Given the description of an element on the screen output the (x, y) to click on. 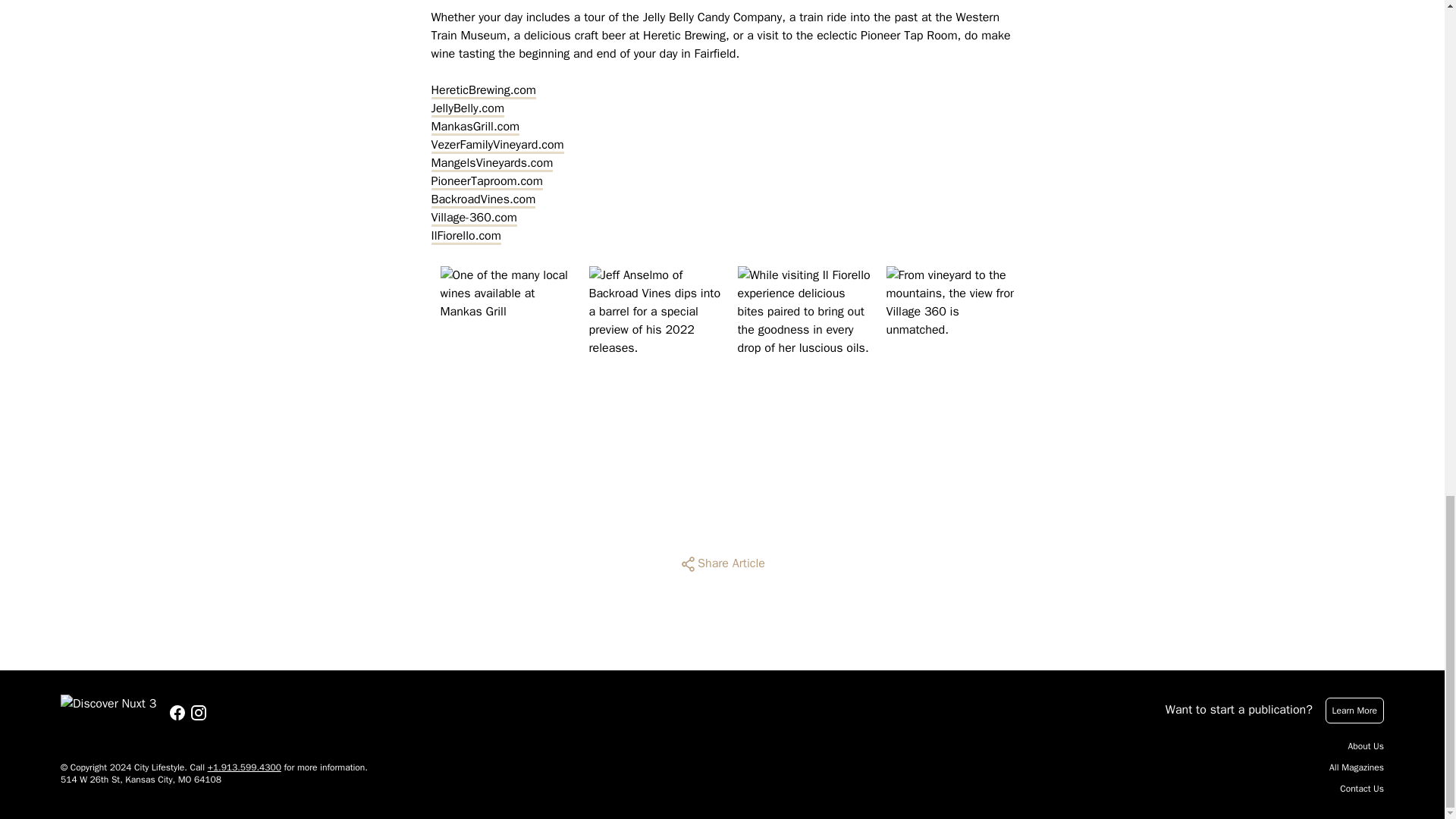
VezerFamilyVineyard.com (496, 144)
MangelsVineyards.com (491, 162)
Share Article (722, 563)
BackroadVines.com (482, 199)
All Magazines (1356, 767)
PioneerTaproom.com (485, 180)
Learn More (1354, 710)
MankasGrill.com (474, 126)
HereticBrewing.com (482, 90)
IlFiorello.com (465, 235)
About Us (1366, 746)
Village-360.com (473, 217)
JellyBelly.com (466, 108)
Contact Us (1361, 788)
